Given the description of an element on the screen output the (x, y) to click on. 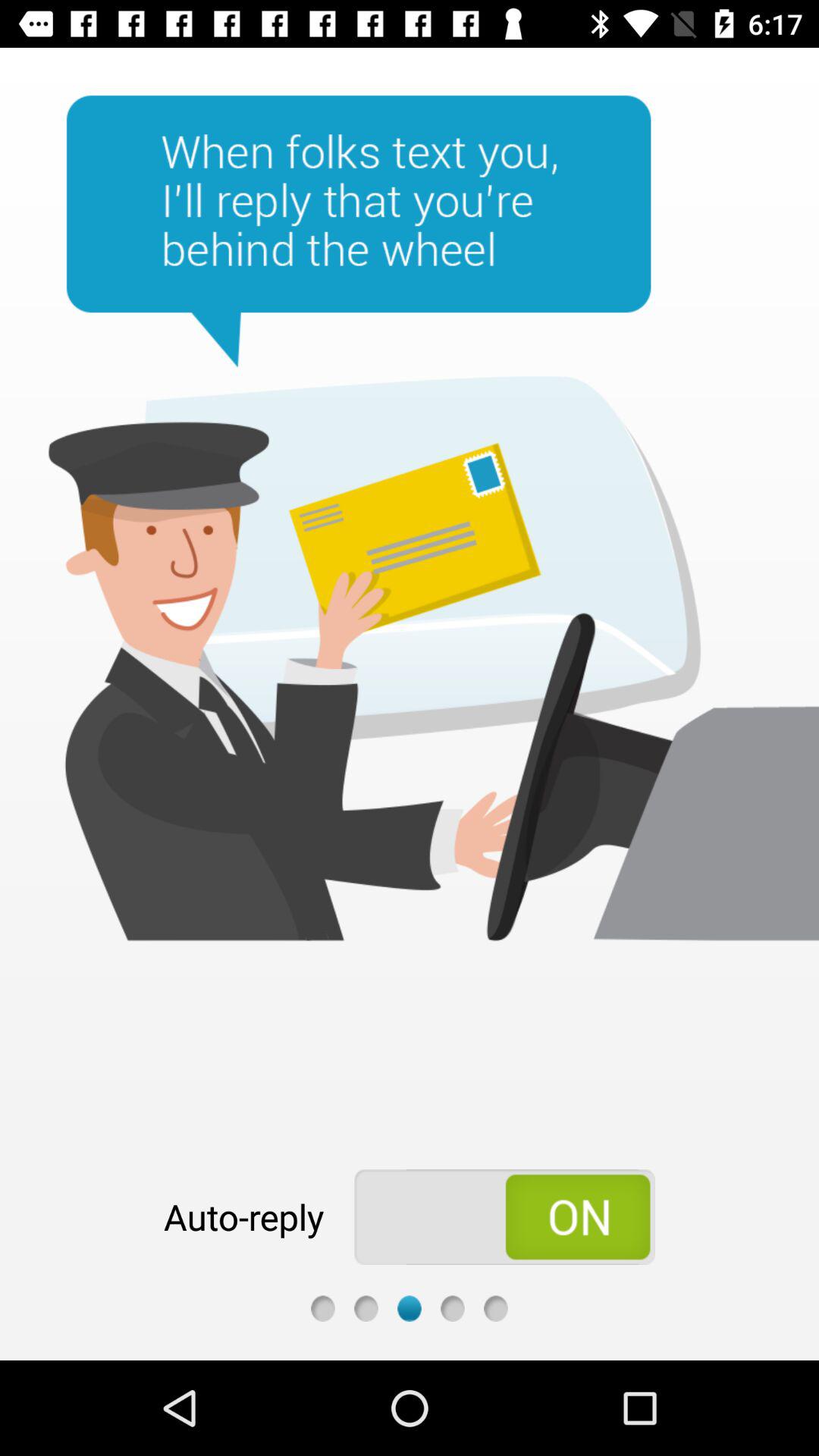
go to first page (322, 1308)
